Given the description of an element on the screen output the (x, y) to click on. 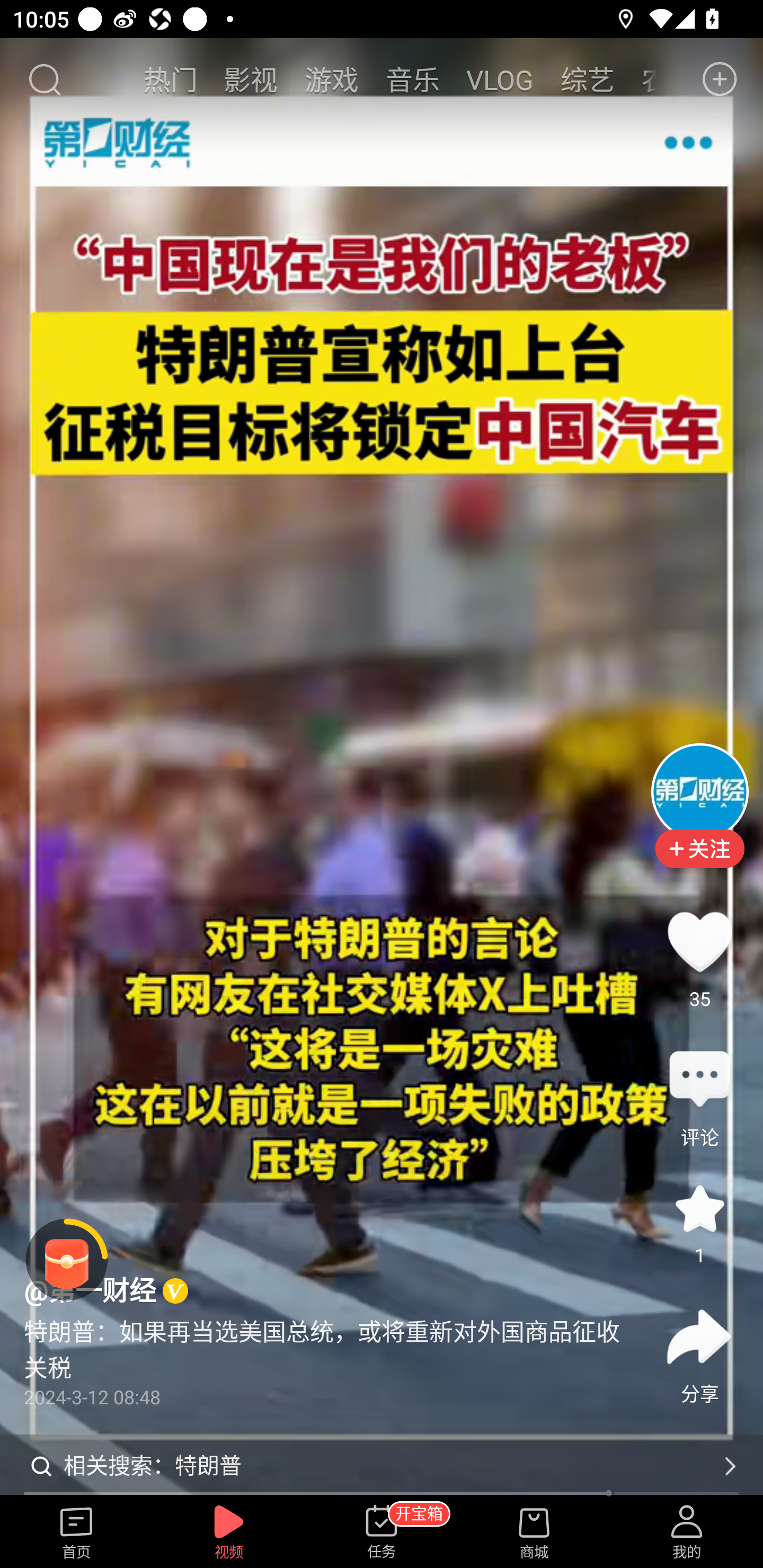
热门 (170, 79)
影视 (250, 79)
游戏 (331, 79)
音乐 (412, 79)
VLOG (500, 79)
综艺 (587, 79)
搜索 (44, 79)
发布 (720, 79)
头像 (699, 791)
加关注 (699, 862)
点赞35 35 (699, 941)
评论 评论 评论 (699, 1080)
收藏 1 (699, 1207)
阅读赚金币 (66, 1259)
分享 (699, 1336)
相关搜索：特朗普 (381, 1465)
首页 (76, 1532)
视频 (228, 1532)
任务 开宝箱 (381, 1532)
商城 (533, 1532)
我的 (686, 1532)
